Given the description of an element on the screen output the (x, y) to click on. 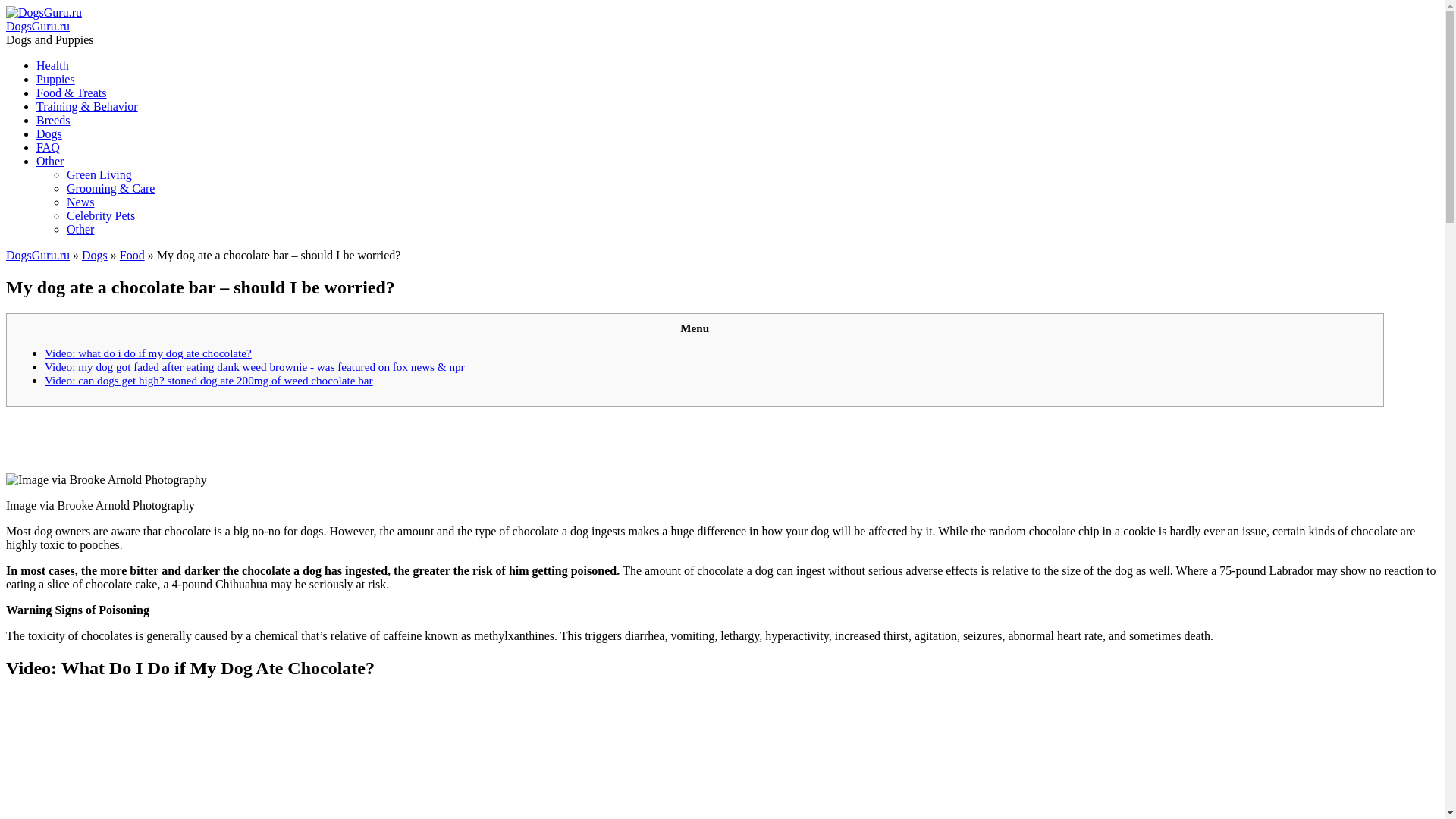
Other (80, 228)
Puppies (55, 78)
FAQ (47, 146)
DogsGuru.ru (37, 254)
DogsGuru.ru (37, 25)
News (80, 201)
Food (131, 254)
Breeds (52, 119)
Dogs (94, 254)
Other (50, 160)
Green Living (99, 174)
DogsGuru.ru (43, 11)
Dogs (49, 133)
Video: what do i do if my dog ate chocolate? (148, 352)
